Given the description of an element on the screen output the (x, y) to click on. 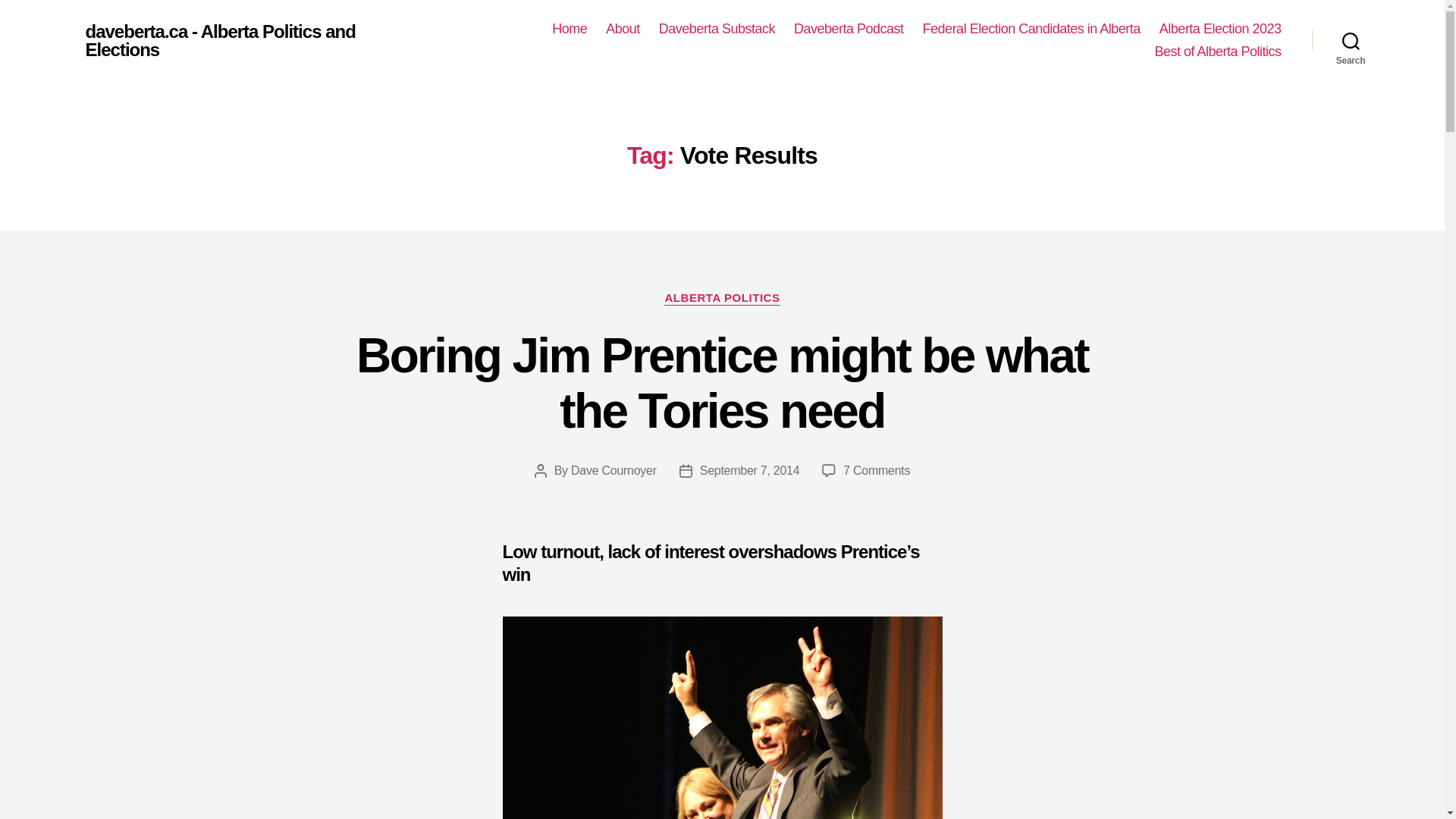
Daveberta Podcast (848, 29)
Dave Cournoyer (613, 470)
Alberta Election 2023 (1219, 29)
September 7, 2014 (749, 470)
Boring Jim Prentice might be what the Tories need (721, 383)
Daveberta Substack (716, 29)
ALBERTA POLITICS (720, 298)
Search (1350, 40)
About (622, 29)
